Given the description of an element on the screen output the (x, y) to click on. 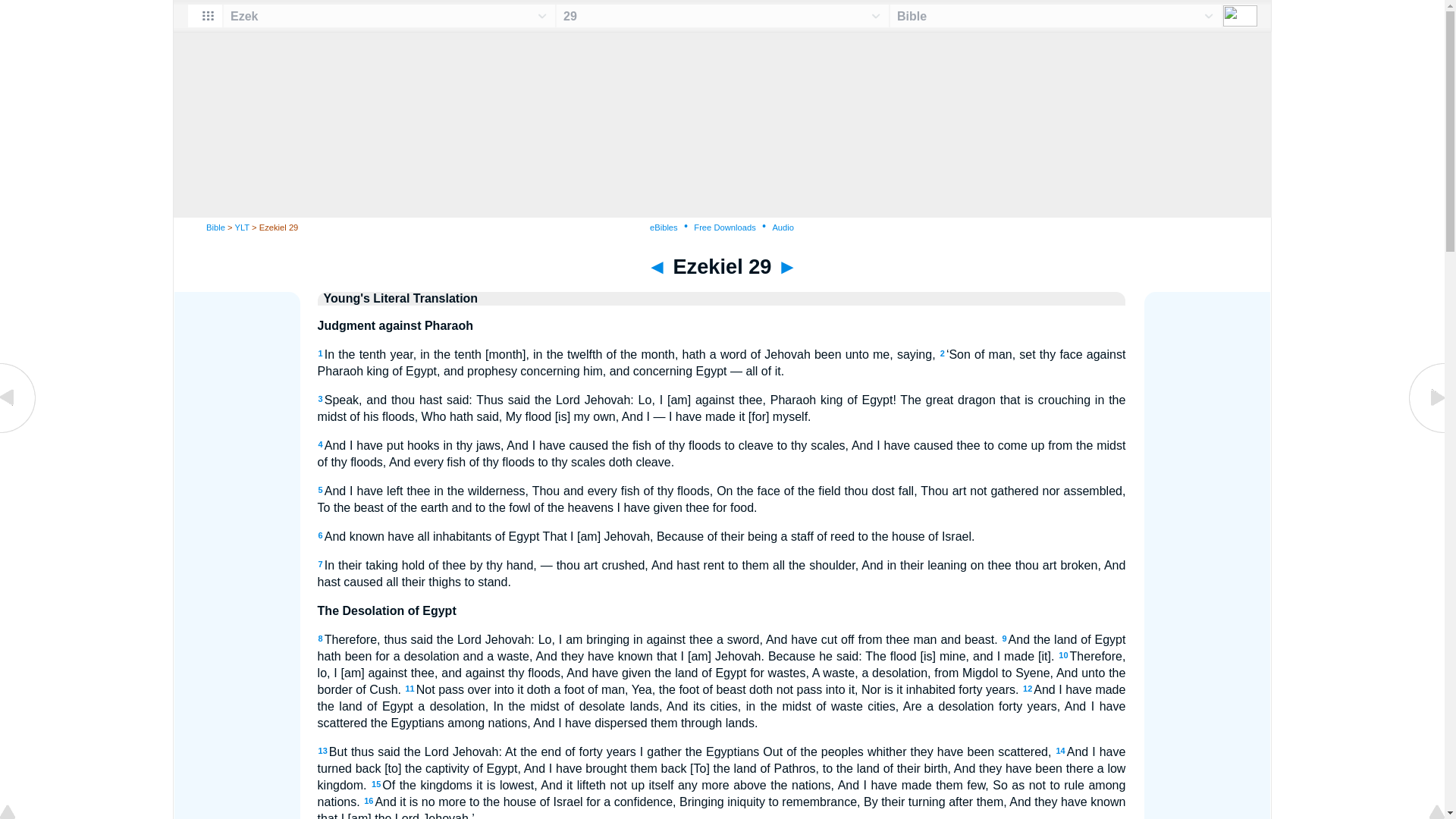
16 (368, 800)
Bible (215, 226)
12 (1027, 687)
10 (1062, 655)
13 (322, 750)
YLT (241, 226)
Ezekiel 28 (18, 431)
14 (1059, 750)
Top of Page (18, 813)
11 (408, 687)
